Given the description of an element on the screen output the (x, y) to click on. 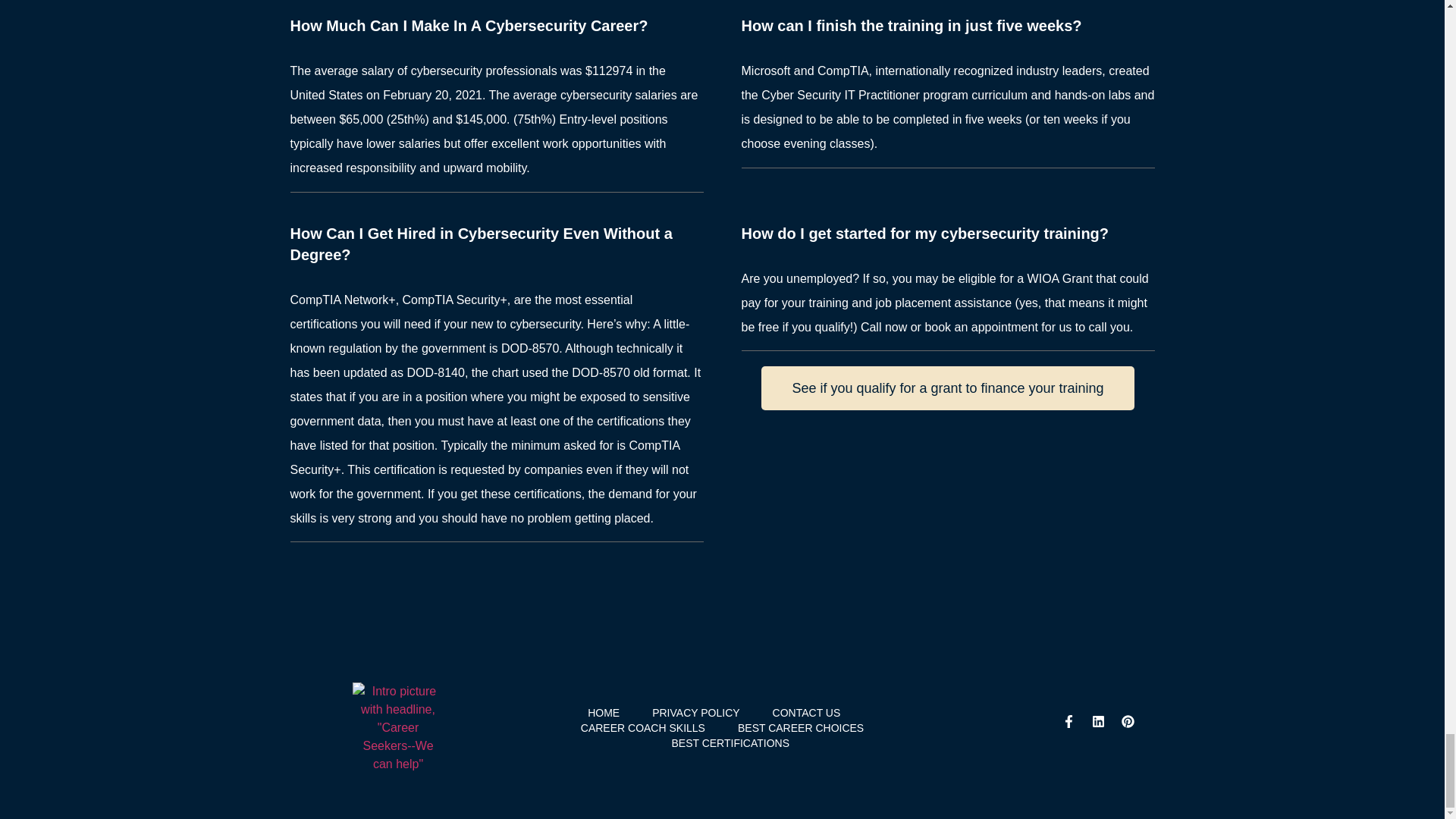
PRIVACY POLICY (695, 712)
BEST CAREER CHOICES (800, 727)
HOME (604, 712)
BEST CERTIFICATIONS (730, 743)
See if you qualify for a grant to finance your training (947, 388)
CONTACT US (807, 712)
CAREER COACH SKILLS (642, 727)
